Given the description of an element on the screen output the (x, y) to click on. 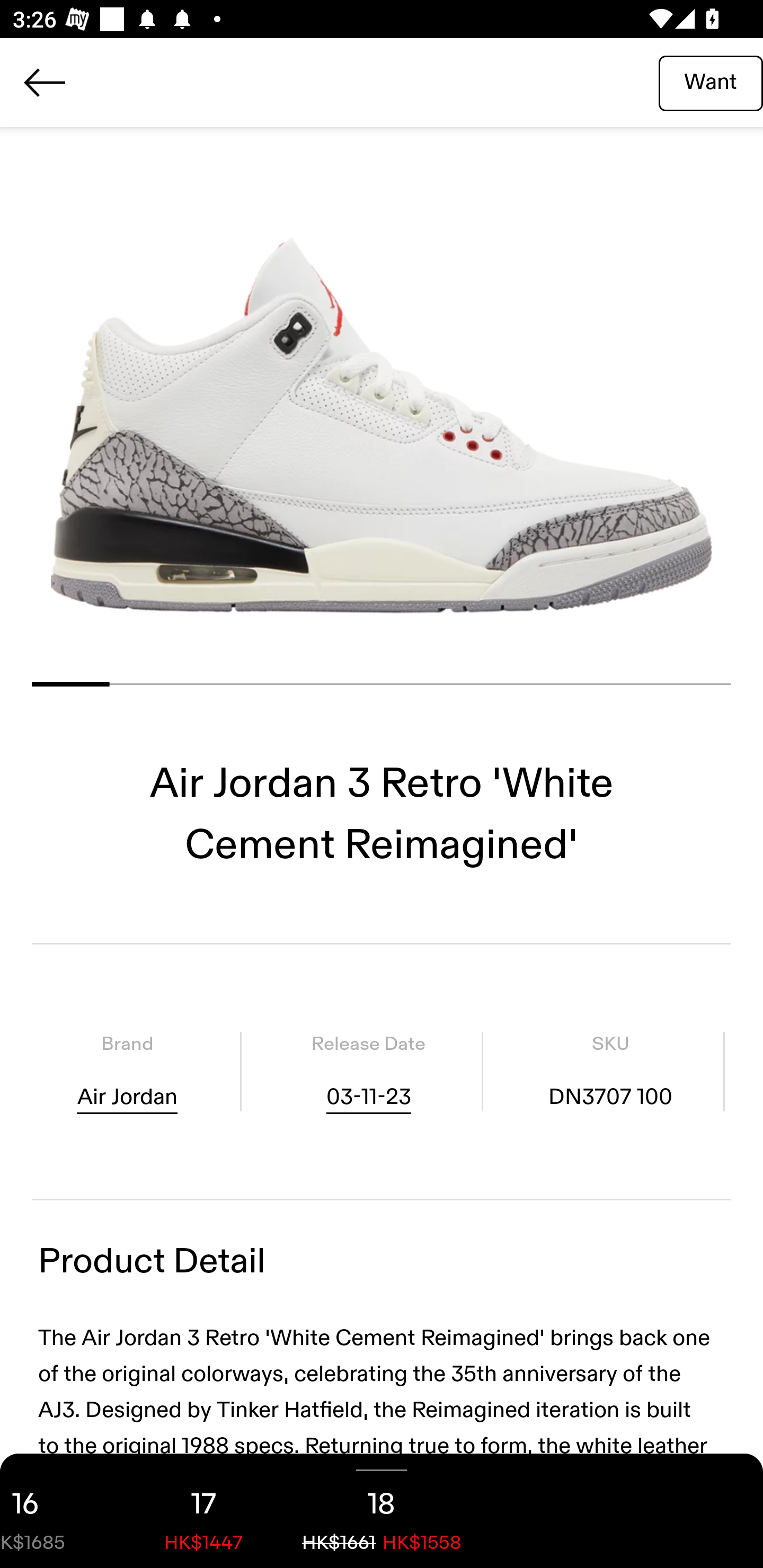
Want (710, 82)
Brand Air Jordan (126, 1070)
Release Date 03-11-23 (368, 1070)
SKU DN3707 100 (609, 1070)
16 HK$1685 (57, 1510)
17 HK$1447 (203, 1510)
18 HK$1661 HK$1558 (381, 1510)
